Given the description of an element on the screen output the (x, y) to click on. 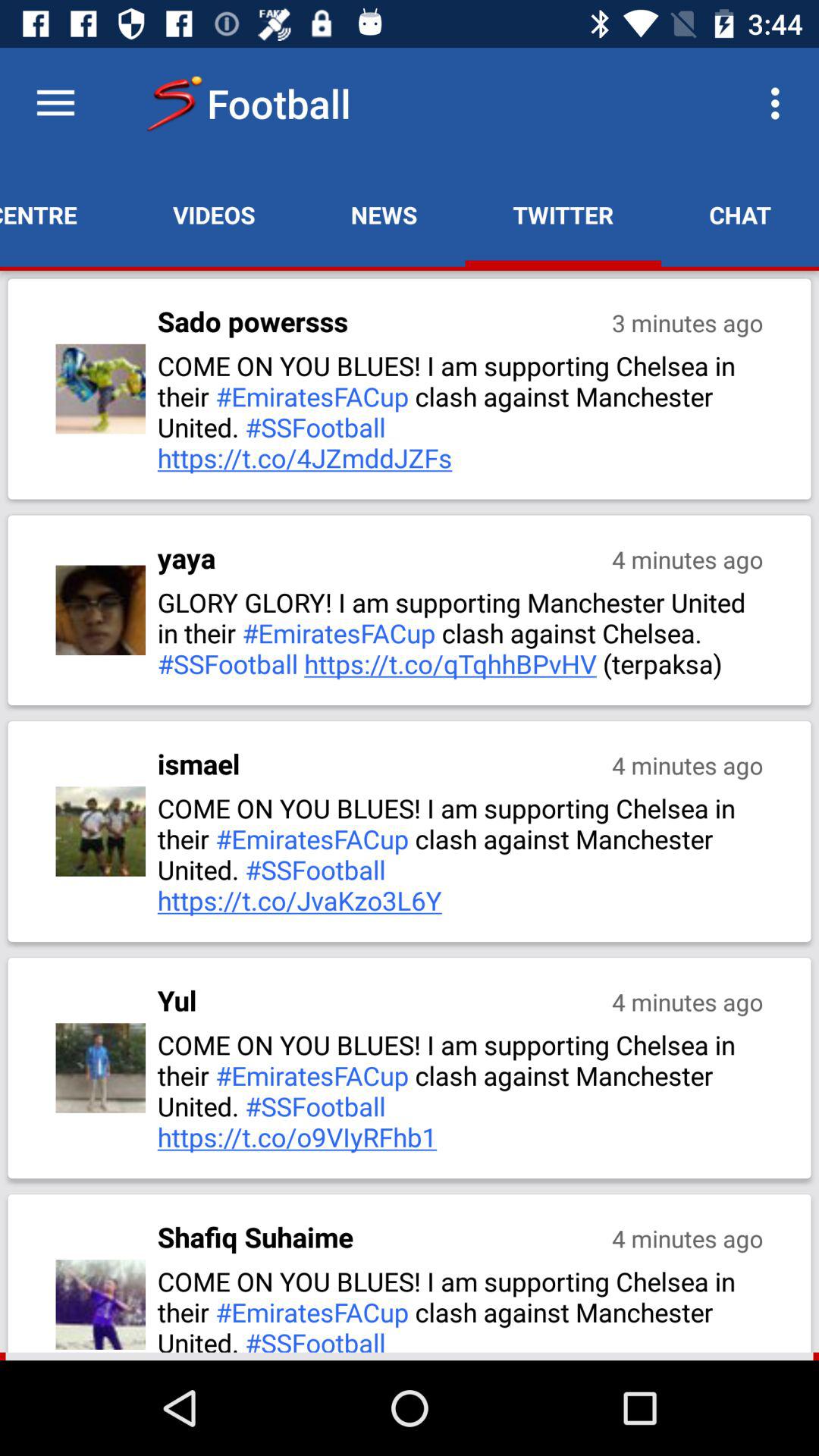
press the item next to news item (563, 214)
